Given the description of an element on the screen output the (x, y) to click on. 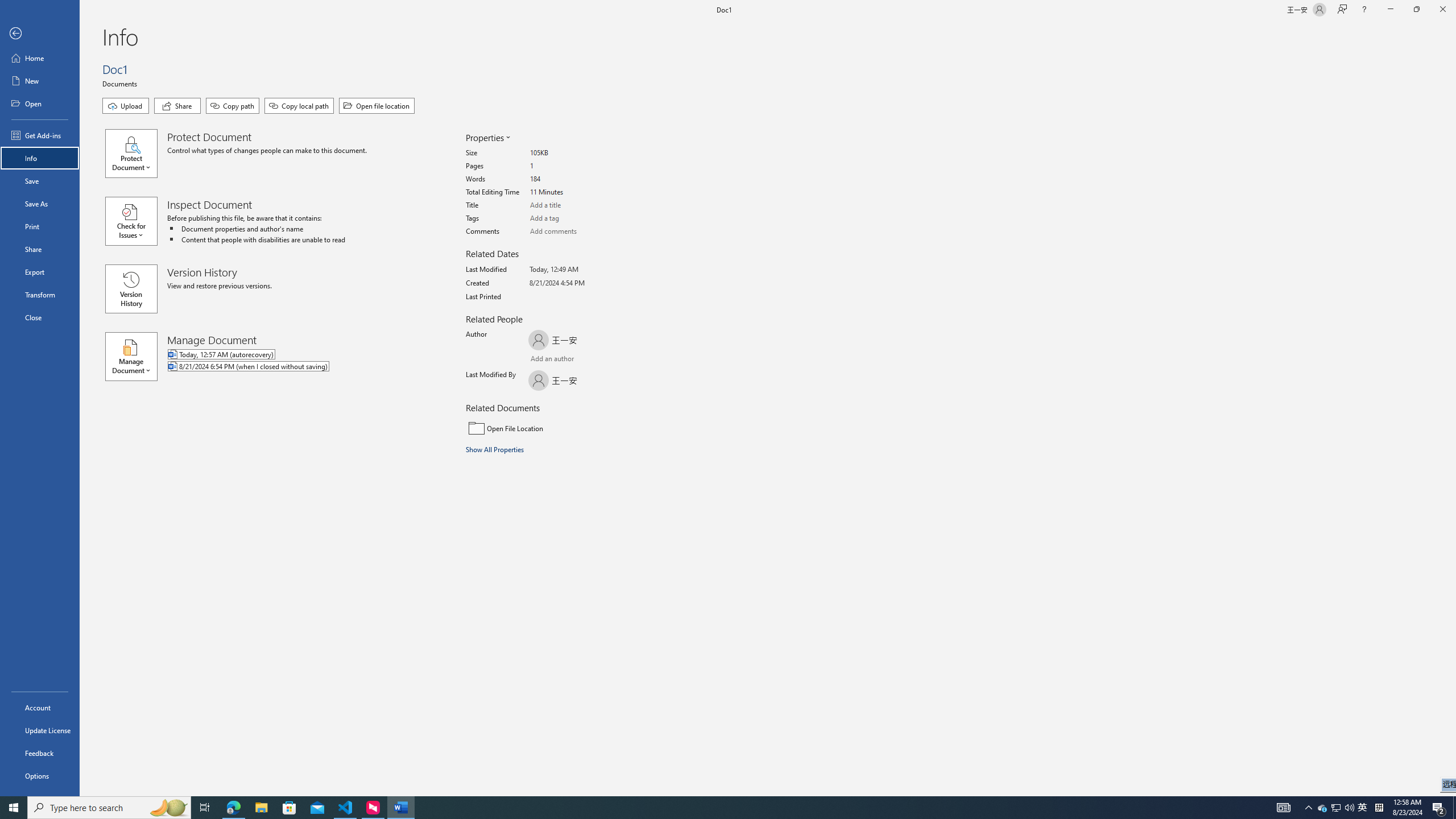
Version History (130, 288)
Open (40, 102)
Account (40, 707)
Update License (40, 730)
New (40, 80)
Pages (572, 166)
Options (40, 775)
Save As (40, 203)
Title (572, 205)
Documents (120, 83)
Transform (40, 294)
Manage Document (135, 356)
Check for Issues (135, 220)
